Given the description of an element on the screen output the (x, y) to click on. 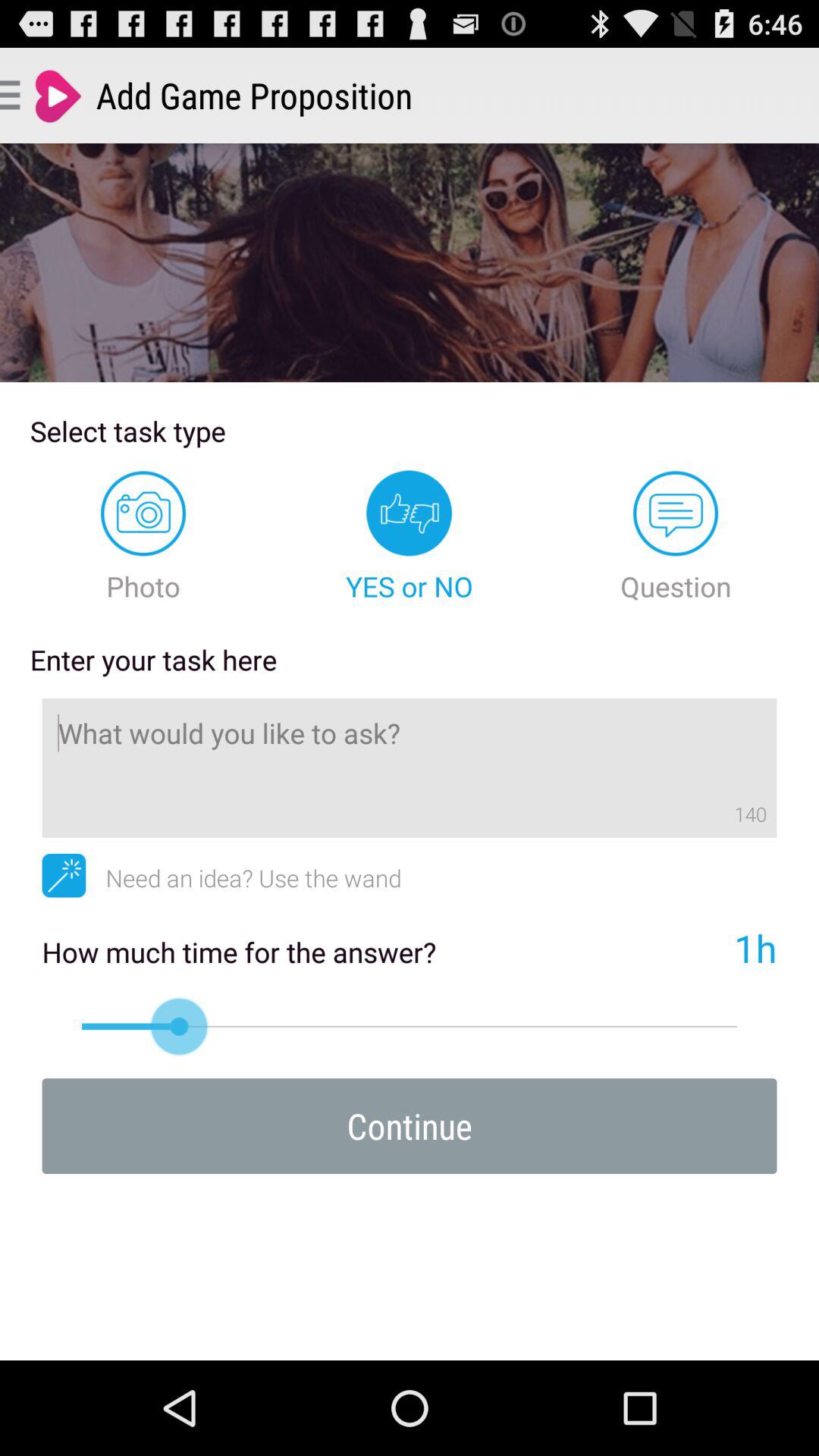
like to ask (409, 767)
